Given the description of an element on the screen output the (x, y) to click on. 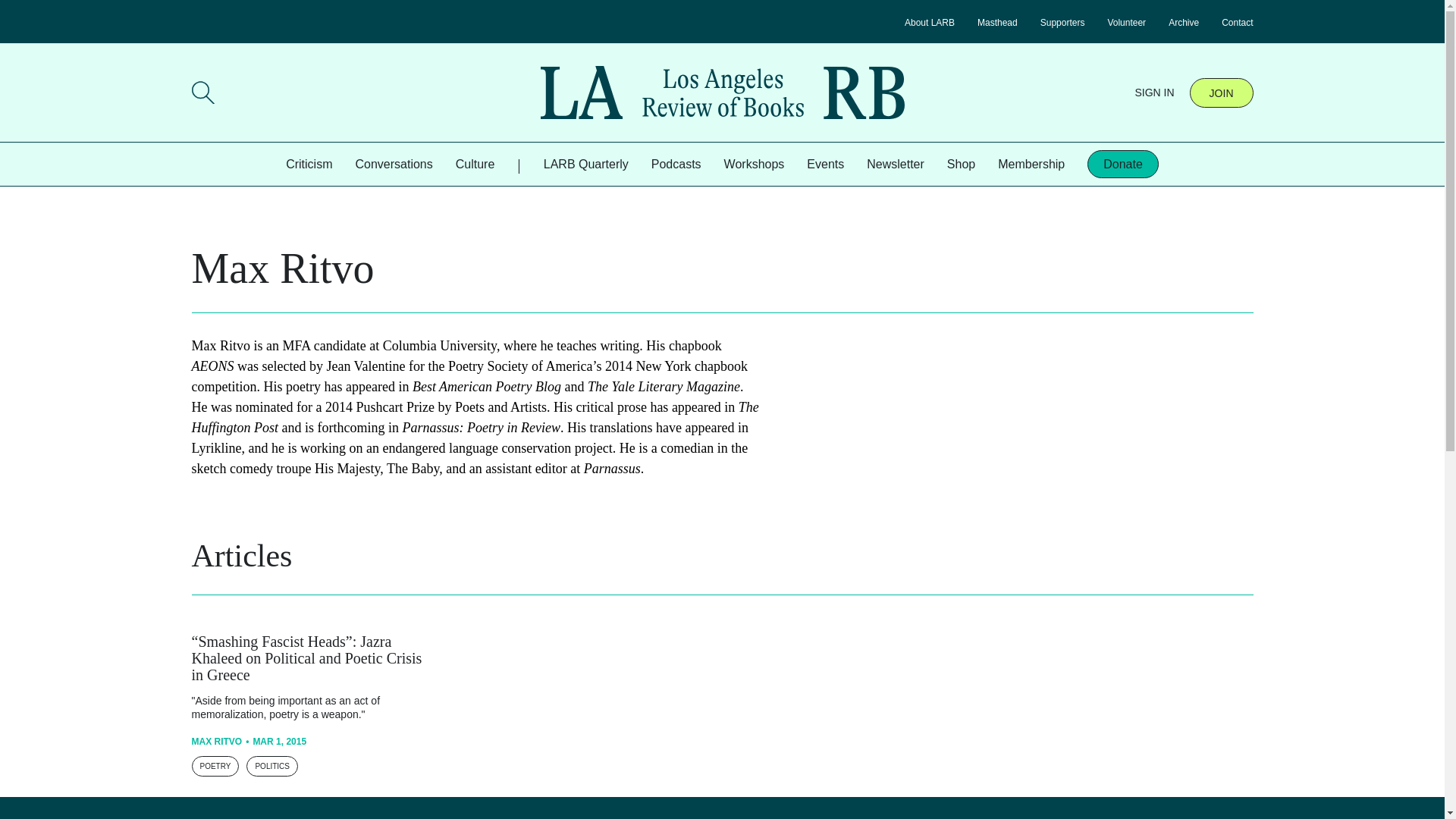
Membership (1030, 163)
Podcasts (675, 163)
Events (825, 163)
Masthead (996, 22)
Archive (1183, 22)
Volunteer (1125, 22)
Newsletter (895, 163)
MAX RITVO (215, 741)
About LARB (929, 22)
Donate (1122, 163)
POETRY (214, 765)
SIGN IN (1153, 92)
LARB Quarterly (585, 163)
JOIN (1221, 91)
Culture (475, 163)
